Given the description of an element on the screen output the (x, y) to click on. 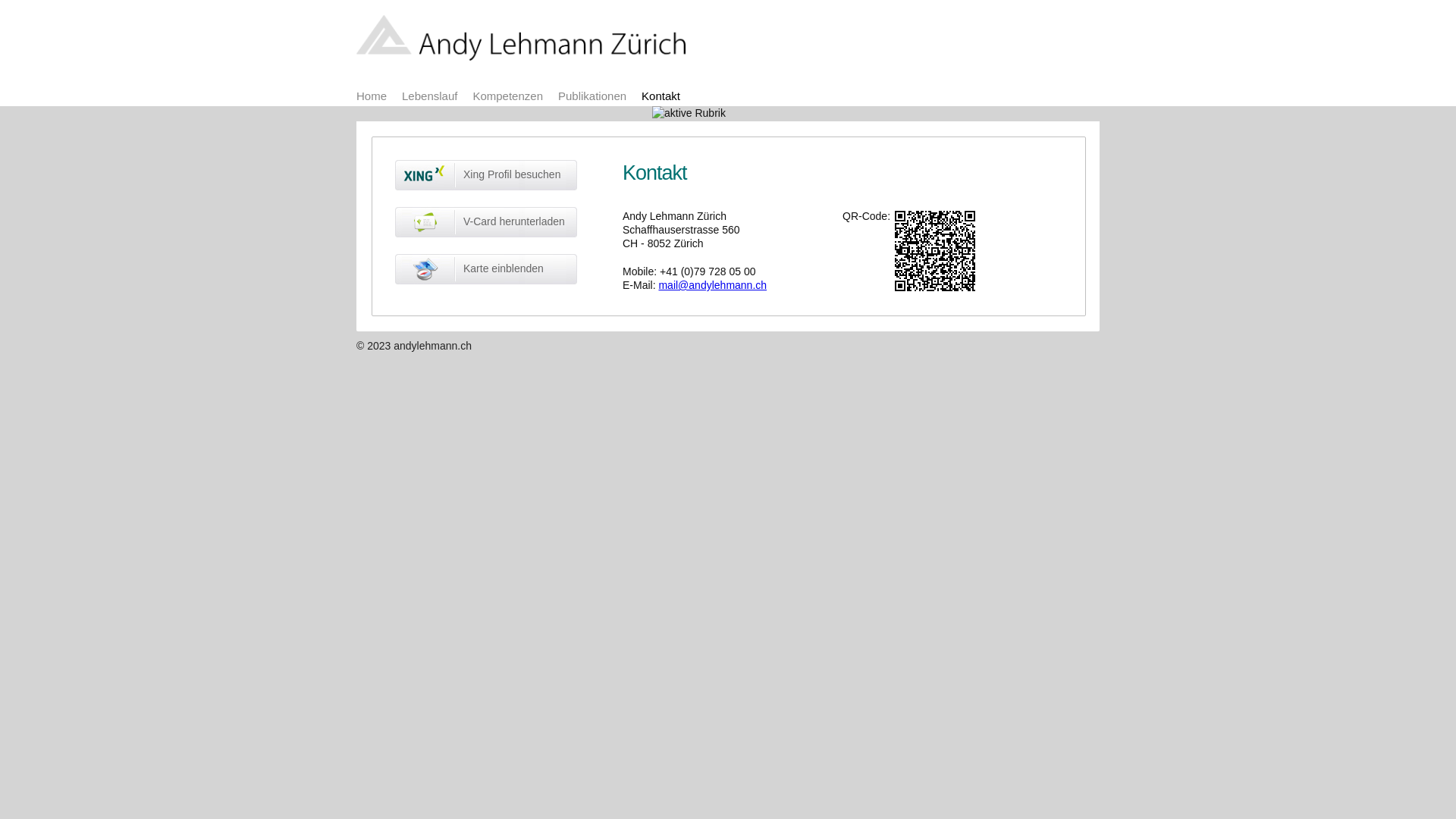
Publikationen Element type: text (592, 95)
Lebenslauf Element type: text (429, 95)
mail@andylehmann.ch Element type: text (712, 285)
Karte einblenden Element type: text (486, 269)
V-Card herunterladen Element type: text (486, 222)
aktive Rubrik Element type: hover (688, 112)
Home Element type: text (371, 95)
Kompetenzen Element type: text (507, 95)
Xing Profil besuchen Element type: text (486, 175)
